Given the description of an element on the screen output the (x, y) to click on. 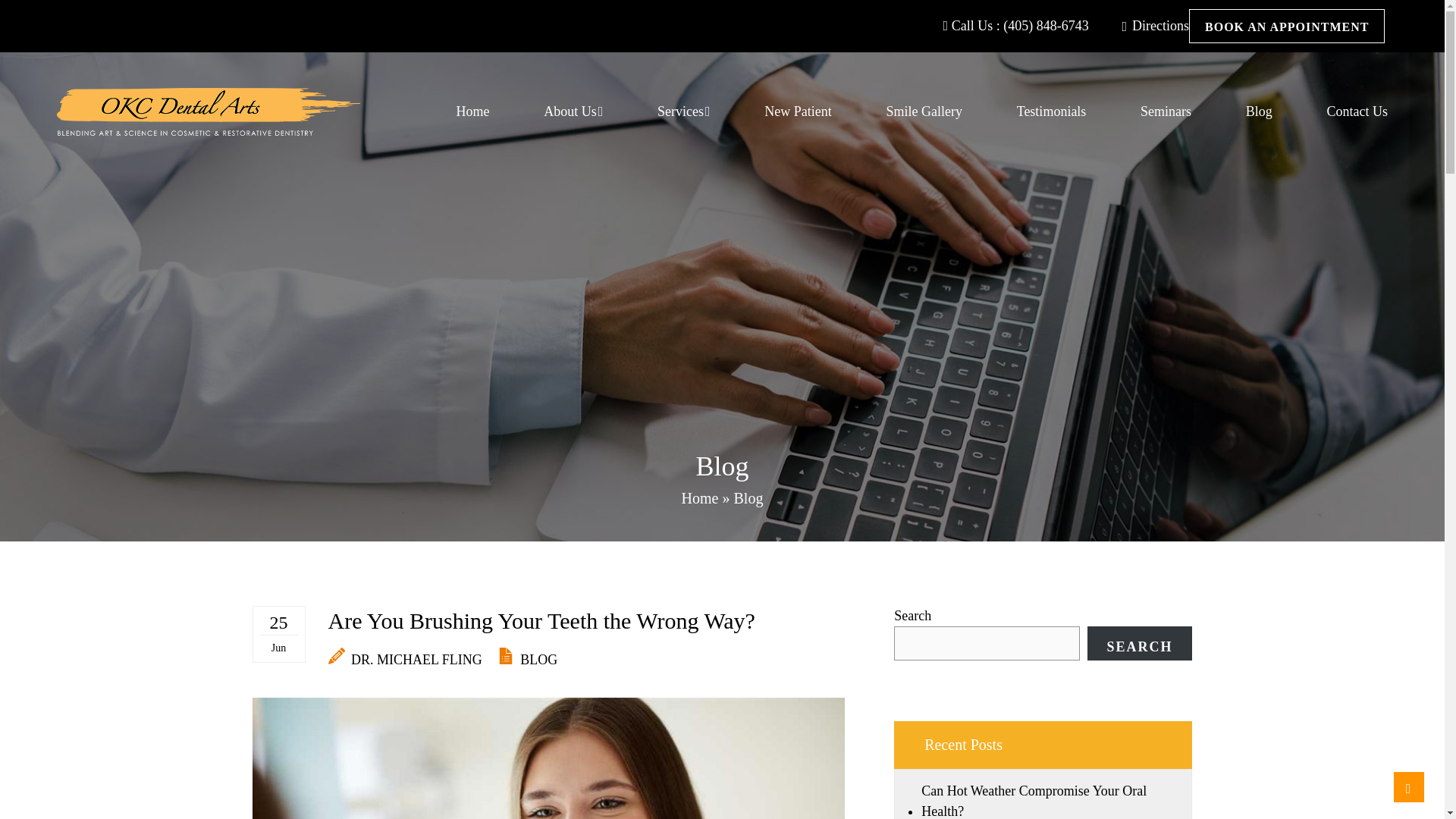
New Patient (797, 111)
About Us (572, 111)
Blog (747, 497)
BLOG (538, 659)
Home (700, 497)
Directions (1155, 26)
Contact Us (1357, 111)
Seminars (1165, 111)
Smile Gallery (922, 111)
Testimonials (1051, 111)
BOOK AN APPOINTMENT (1286, 26)
Services (684, 111)
DR. MICHAEL FLING (404, 659)
